Given the description of an element on the screen output the (x, y) to click on. 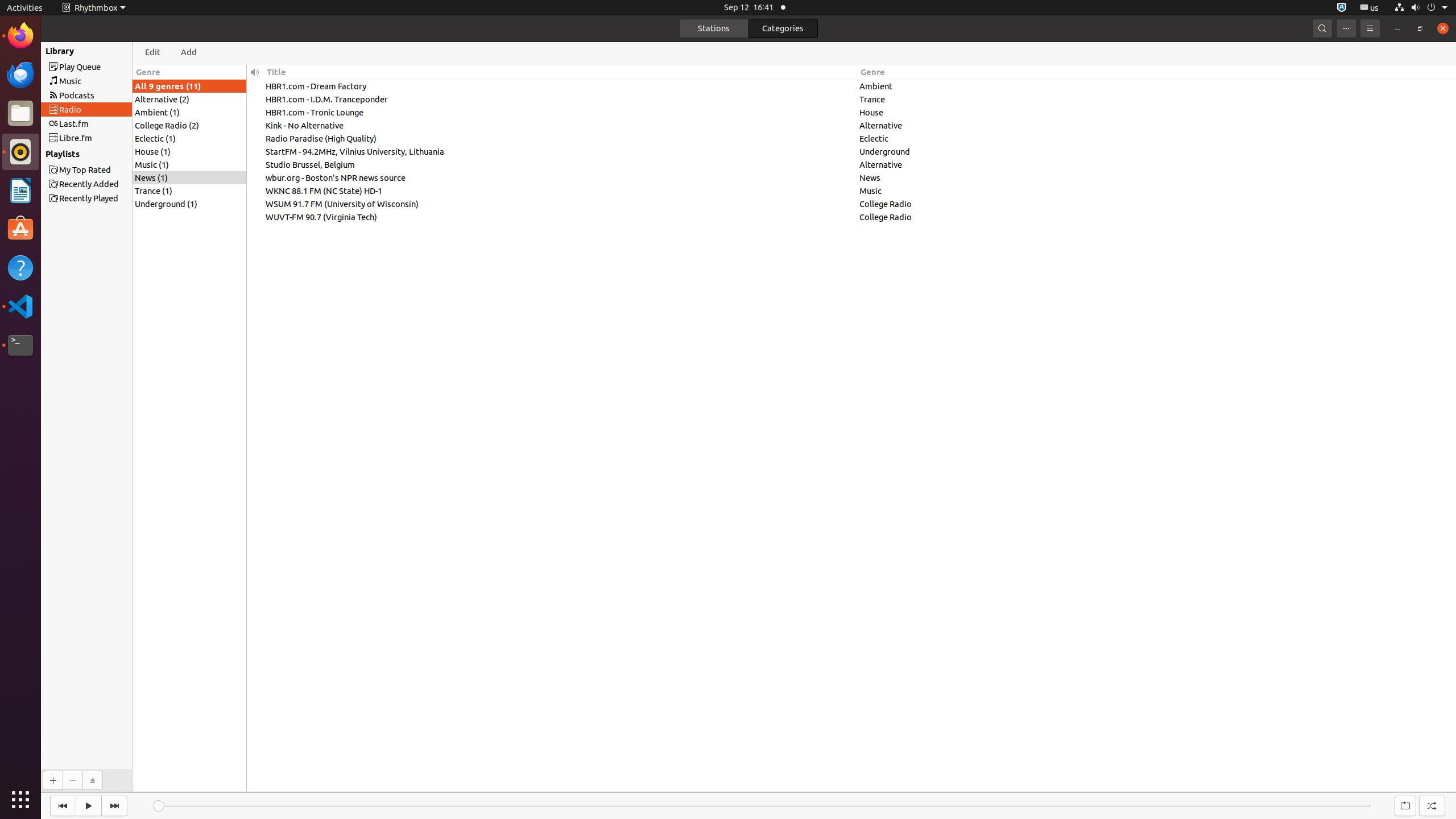
All 9 genres (11) Element type: table-cell (189, 86)
Add Element type: toggle-button (52, 779)
Genre Element type: table-column-header (1156, 72)
WKNC 88.1 FM (NC State) HD-1 Element type: table-cell (559, 190)
